Given the description of an element on the screen output the (x, y) to click on. 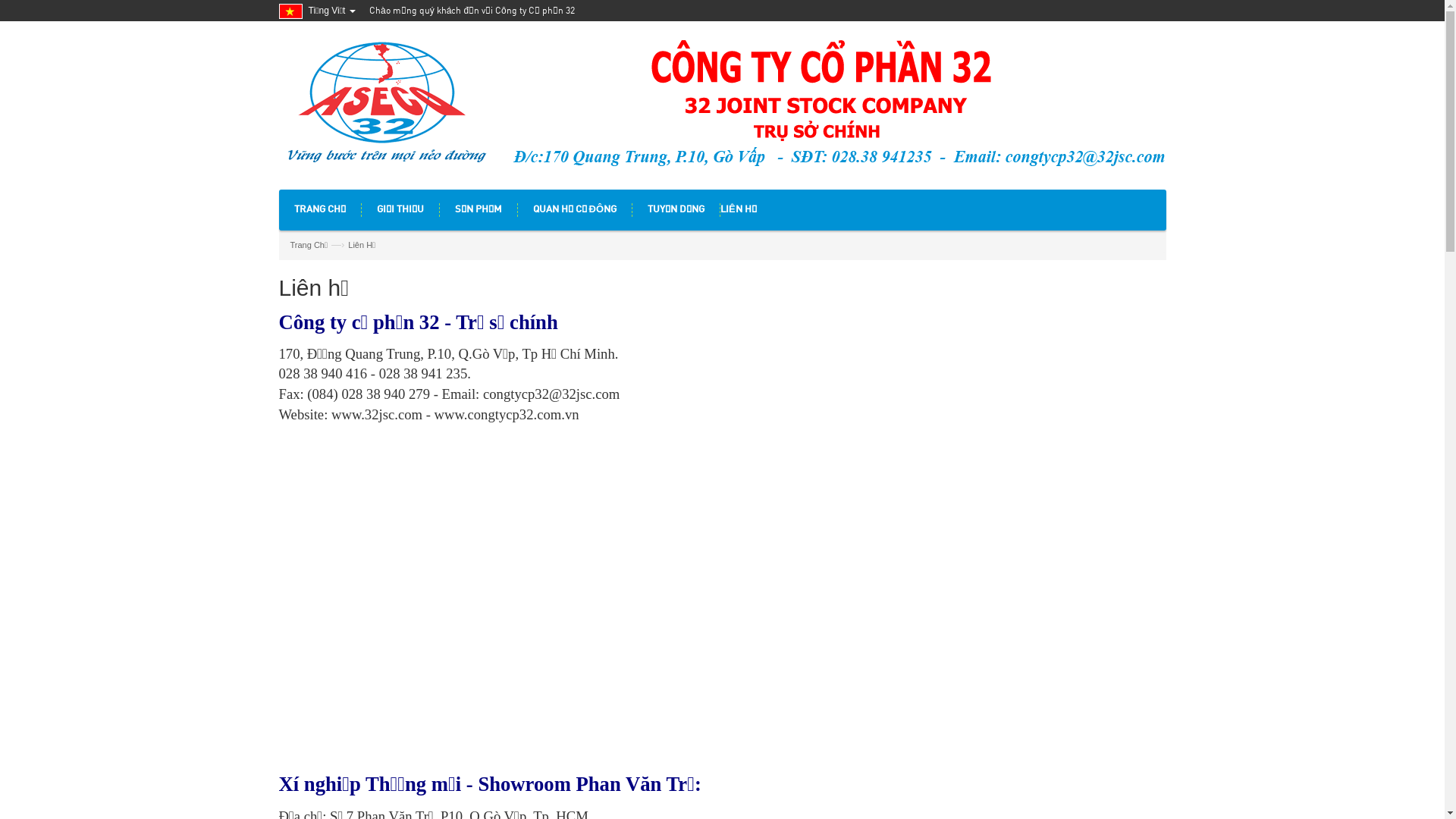
www.congtycp32.com.vn Element type: text (506, 414)
www.32jsc.com Element type: text (374, 414)
